Given the description of an element on the screen output the (x, y) to click on. 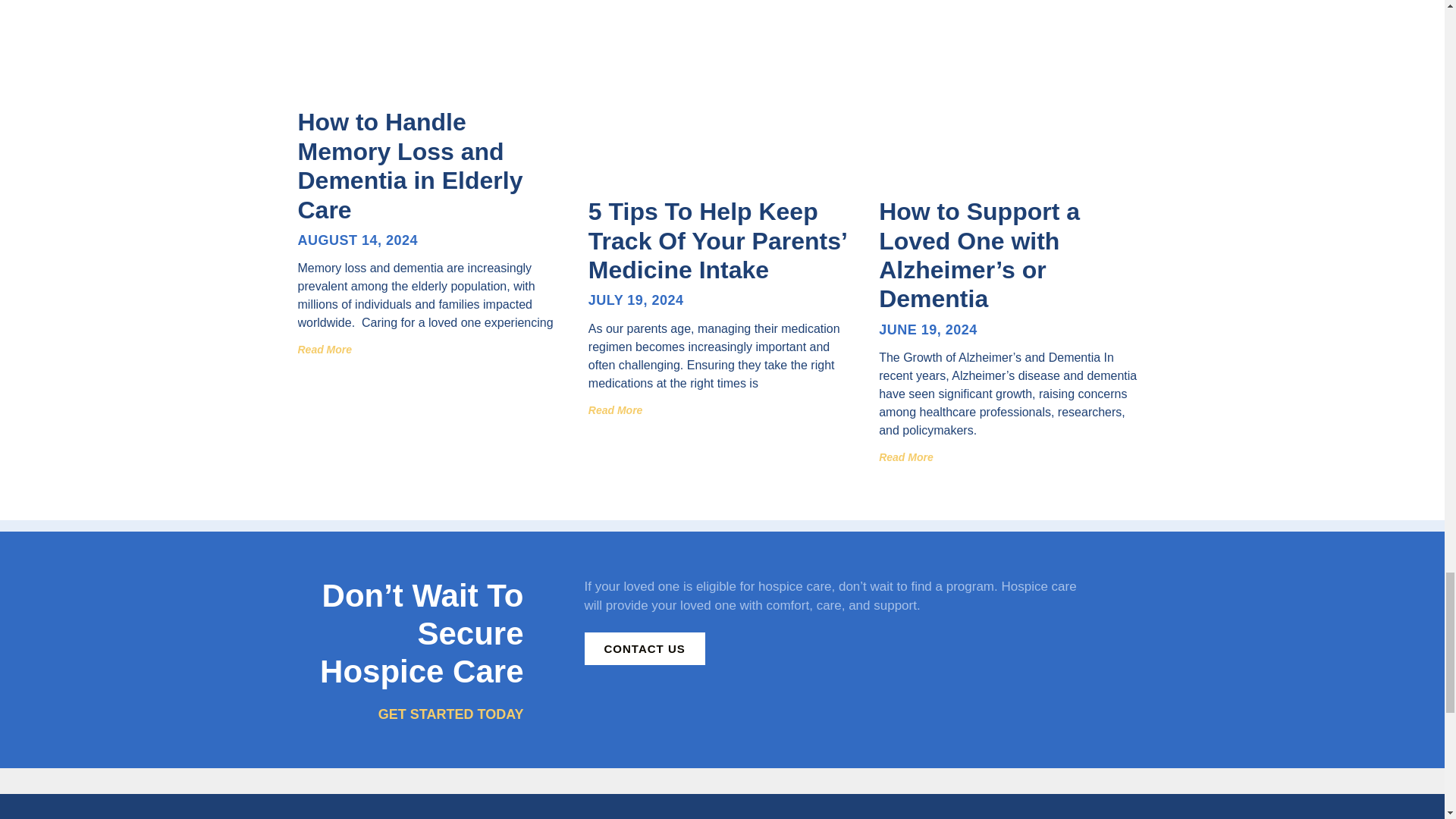
CONTACT US (643, 648)
Read More (615, 410)
Read More (324, 349)
How to Handle Memory Loss and Dementia in Elderly Care (409, 165)
Read More (906, 457)
